Given the description of an element on the screen output the (x, y) to click on. 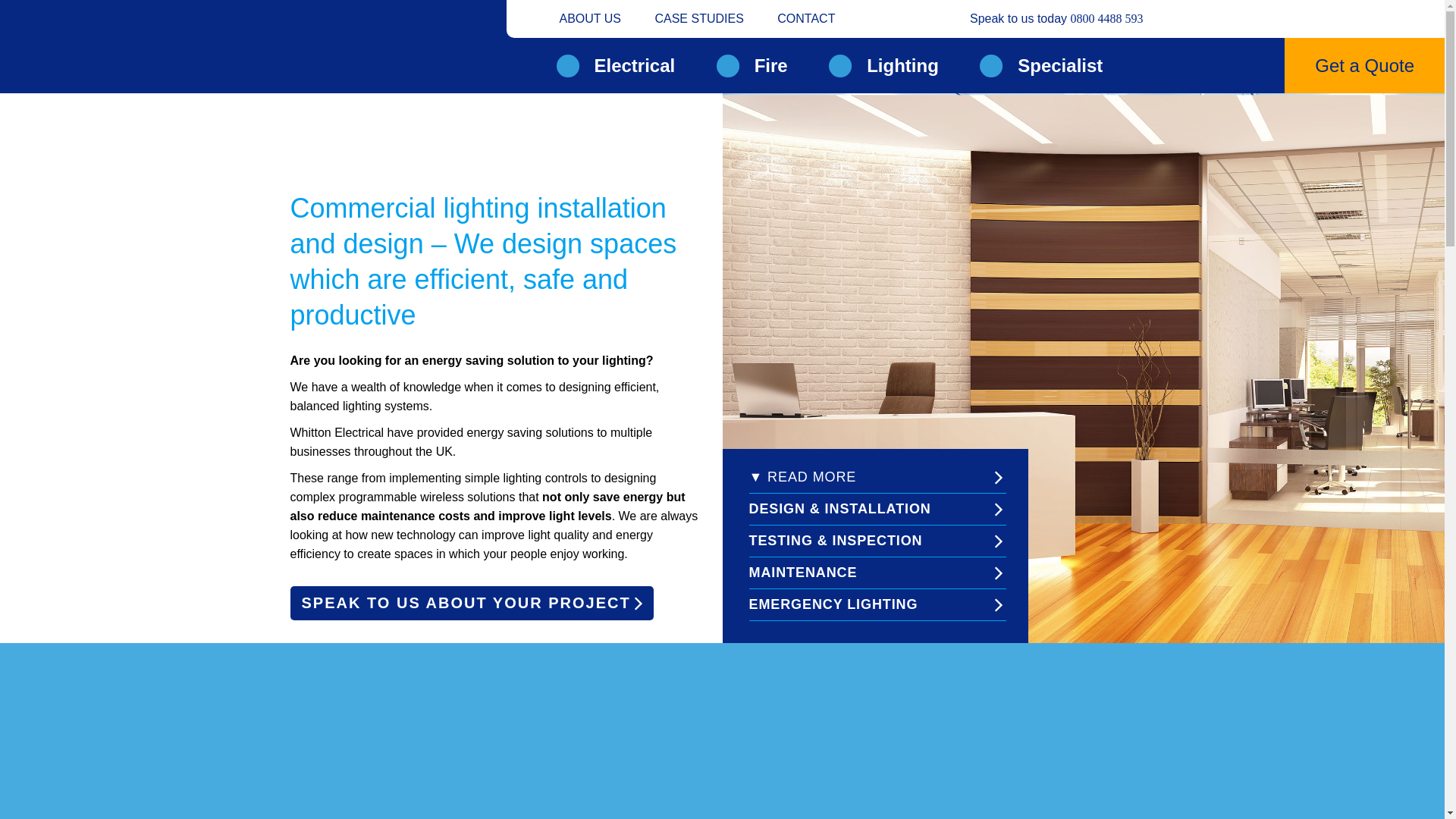
Electrical (615, 65)
Fire (751, 65)
CONTACT (805, 18)
Fire (751, 65)
Case Studies (697, 18)
Specialist (1040, 65)
CASE STUDIES (697, 18)
Contact (805, 18)
Lighting (883, 65)
About Us (590, 18)
